Given the description of an element on the screen output the (x, y) to click on. 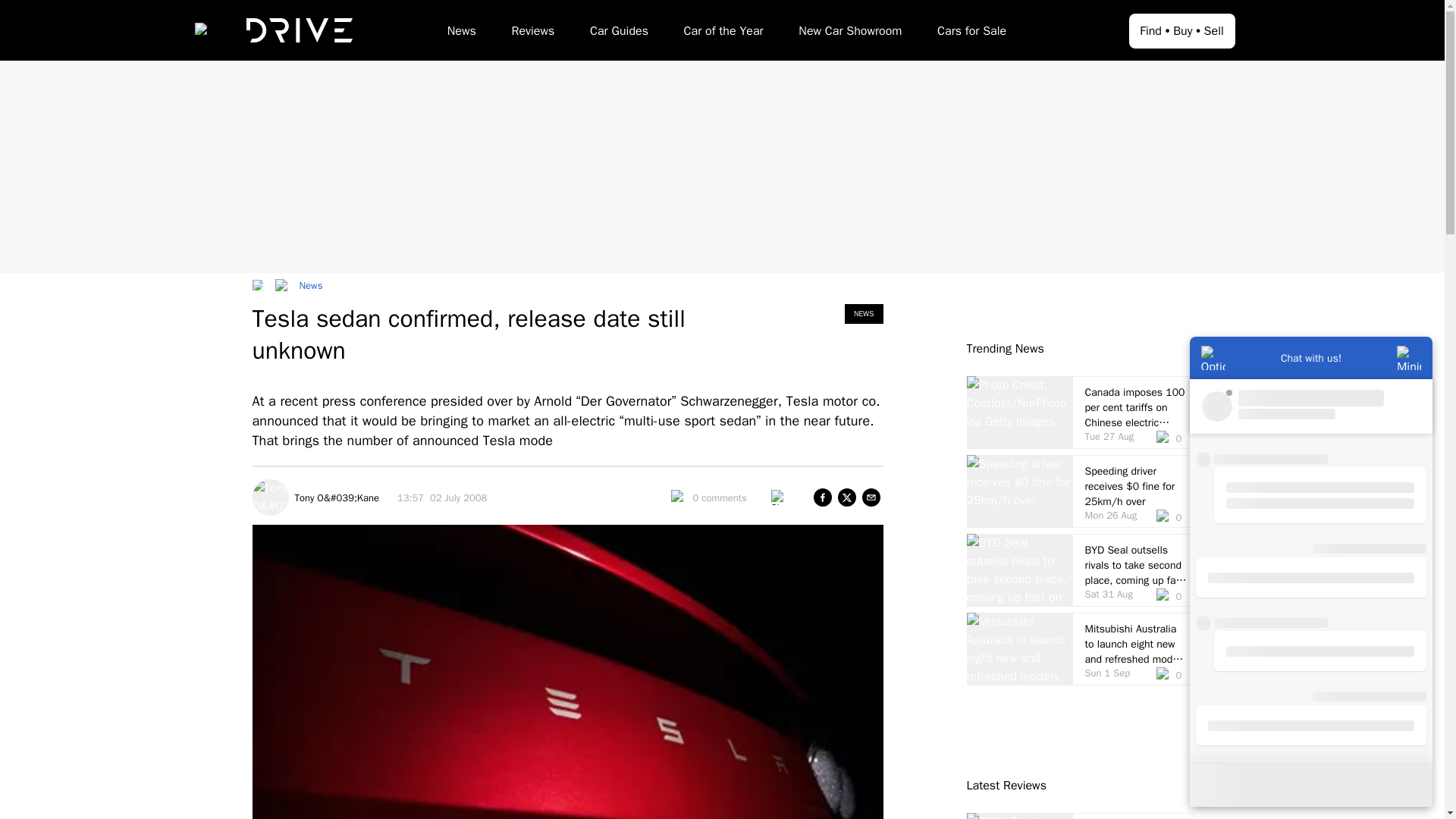
New Car Showroom (849, 33)
Share on X (846, 497)
Reviews (532, 33)
Share via e-mail (870, 497)
Car of the Year (723, 33)
Cars for Sale (971, 33)
Share on Facebook (821, 497)
Car Guides (618, 33)
News (461, 33)
